Given the description of an element on the screen output the (x, y) to click on. 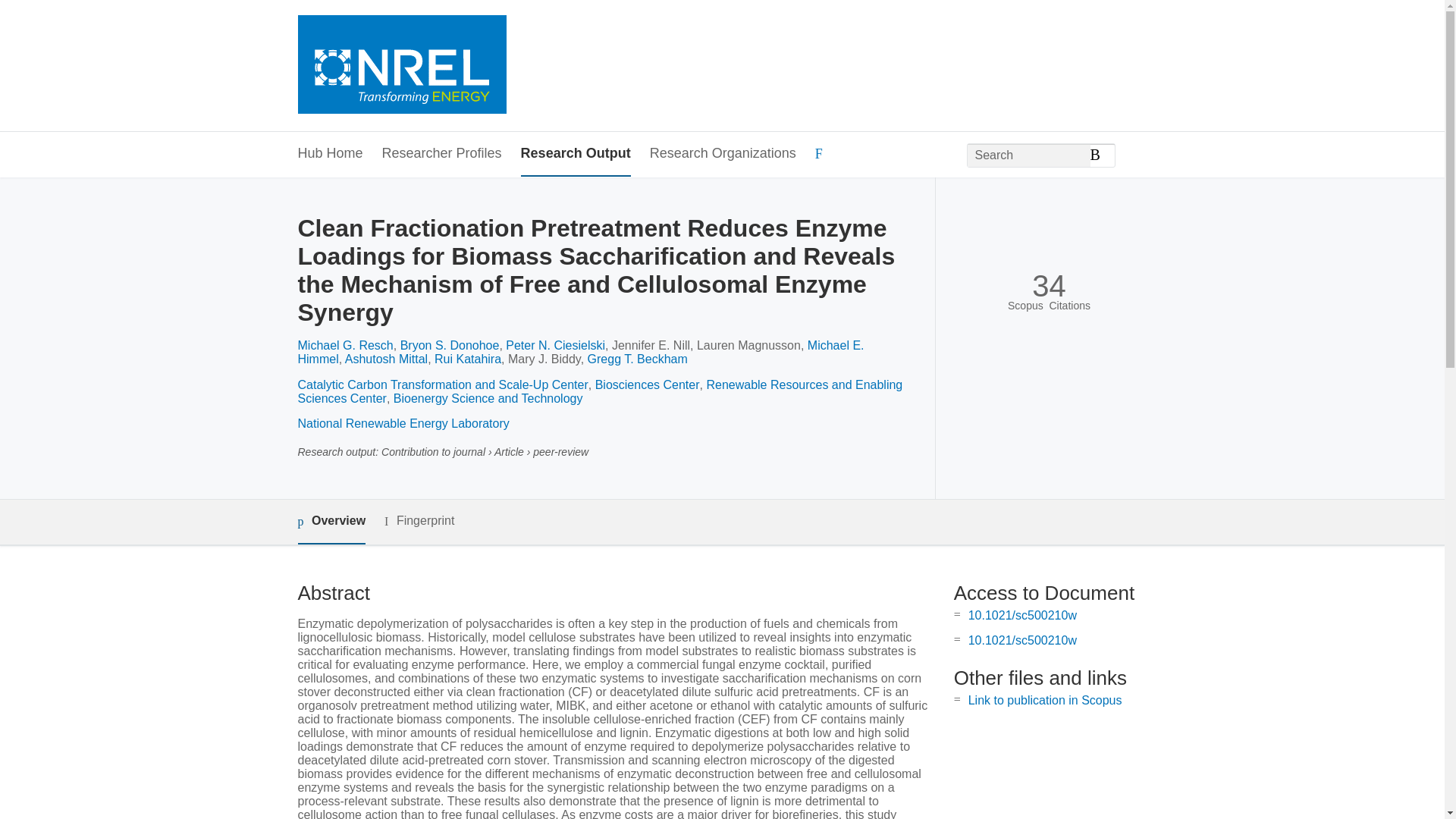
Hub Home (329, 153)
National Renewable Energy Laboratory Hub Home (401, 66)
Renewable Resources and Enabling Sciences Center (599, 391)
Bioenergy Science and Technology (488, 398)
Michael E. Himmel (580, 352)
National Renewable Energy Laboratory (402, 422)
Bryon S. Donohoe (449, 345)
Link to publication in Scopus (1045, 699)
Biosciences Center (647, 384)
Michael G. Resch (345, 345)
Ashutosh Mittal (386, 358)
Overview (331, 521)
Research Output (575, 153)
Fingerprint (419, 520)
